Given the description of an element on the screen output the (x, y) to click on. 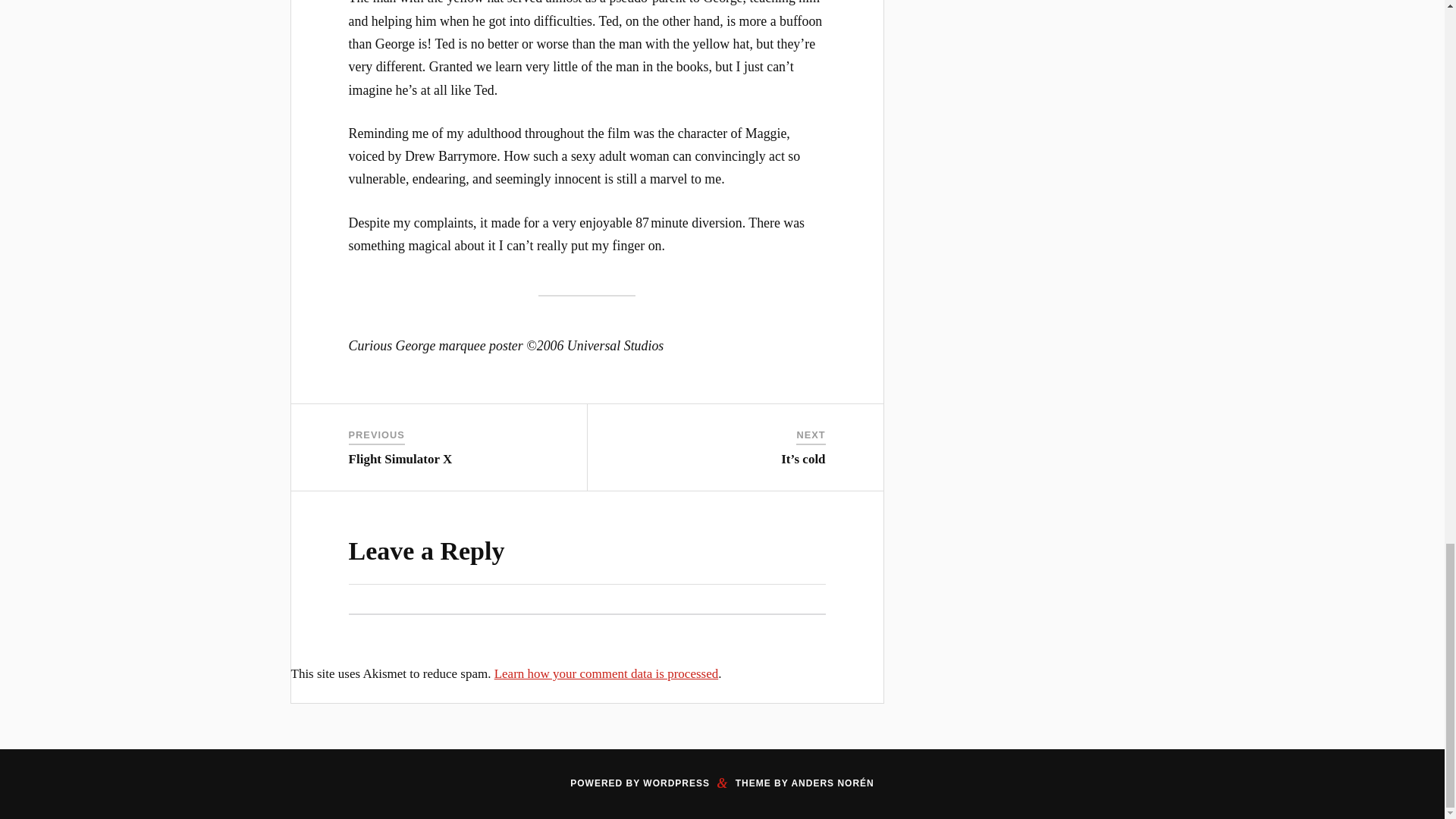
Learn how your comment data is processed (607, 673)
Flight Simulator X (400, 459)
WORDPRESS (676, 783)
